Given the description of an element on the screen output the (x, y) to click on. 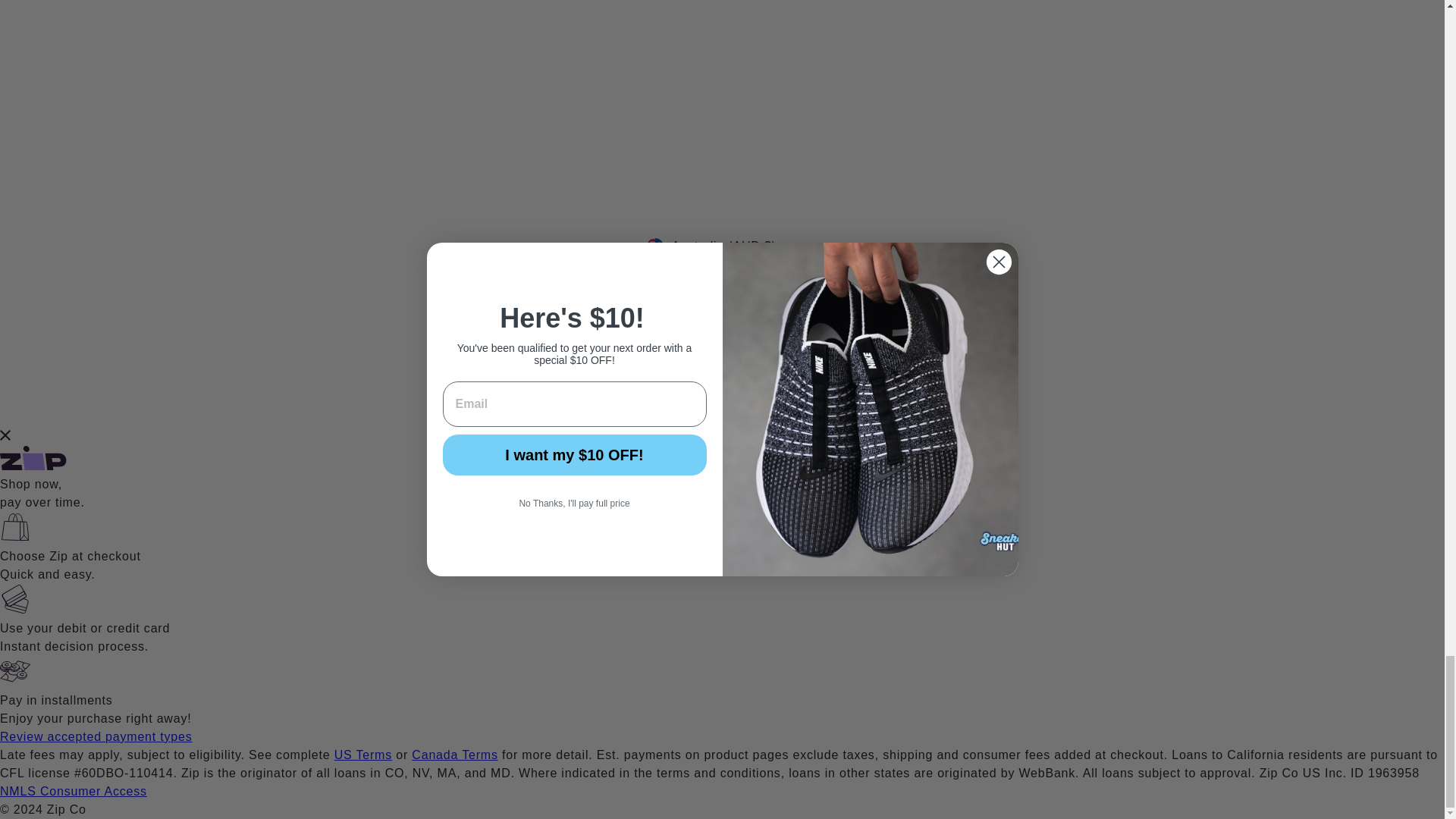
Sneaker Hut  on Instagram (698, 301)
American Express (599, 385)
PayPal (739, 385)
Visa (844, 385)
Google Pay (669, 385)
Shop Pay (774, 385)
Apple Pay (634, 385)
Union Pay (809, 385)
Mastercard (704, 385)
Sneaker Hut  on Facebook (747, 301)
